Given the description of an element on the screen output the (x, y) to click on. 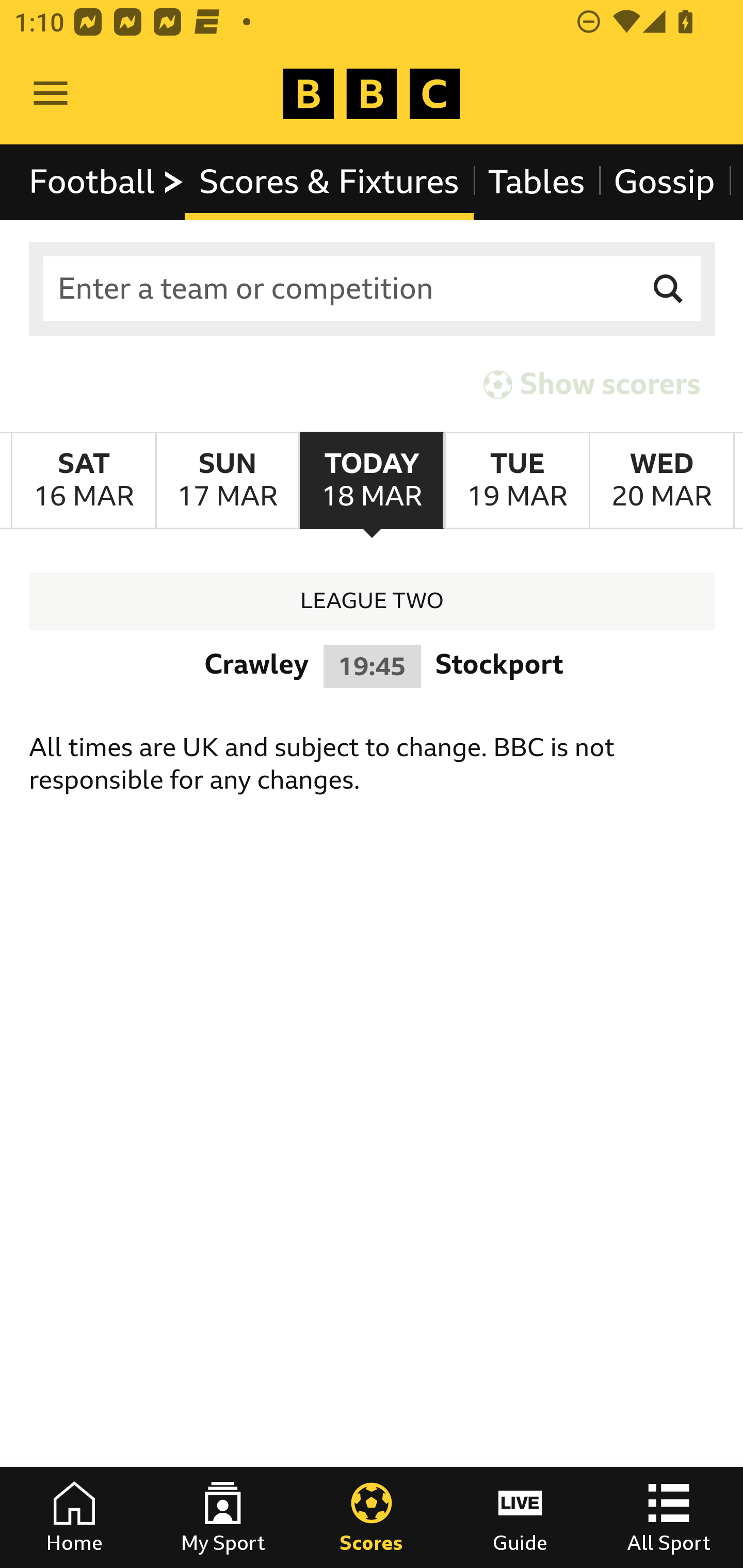
Open Menu (50, 93)
Football  (106, 181)
Scores & Fixtures (329, 181)
Tables (536, 181)
Gossip (664, 181)
Search (669, 289)
Show scorers (591, 383)
SaturdayMarch 16th Saturday March 16th (83, 480)
SundayMarch 17th Sunday March 17th (227, 480)
TuesdayMarch 19th Tuesday March 19th (516, 480)
WednesdayMarch 20th Wednesday March 20th (661, 480)
Home (74, 1517)
My Sport (222, 1517)
Guide (519, 1517)
All Sport (668, 1517)
